Given the description of an element on the screen output the (x, y) to click on. 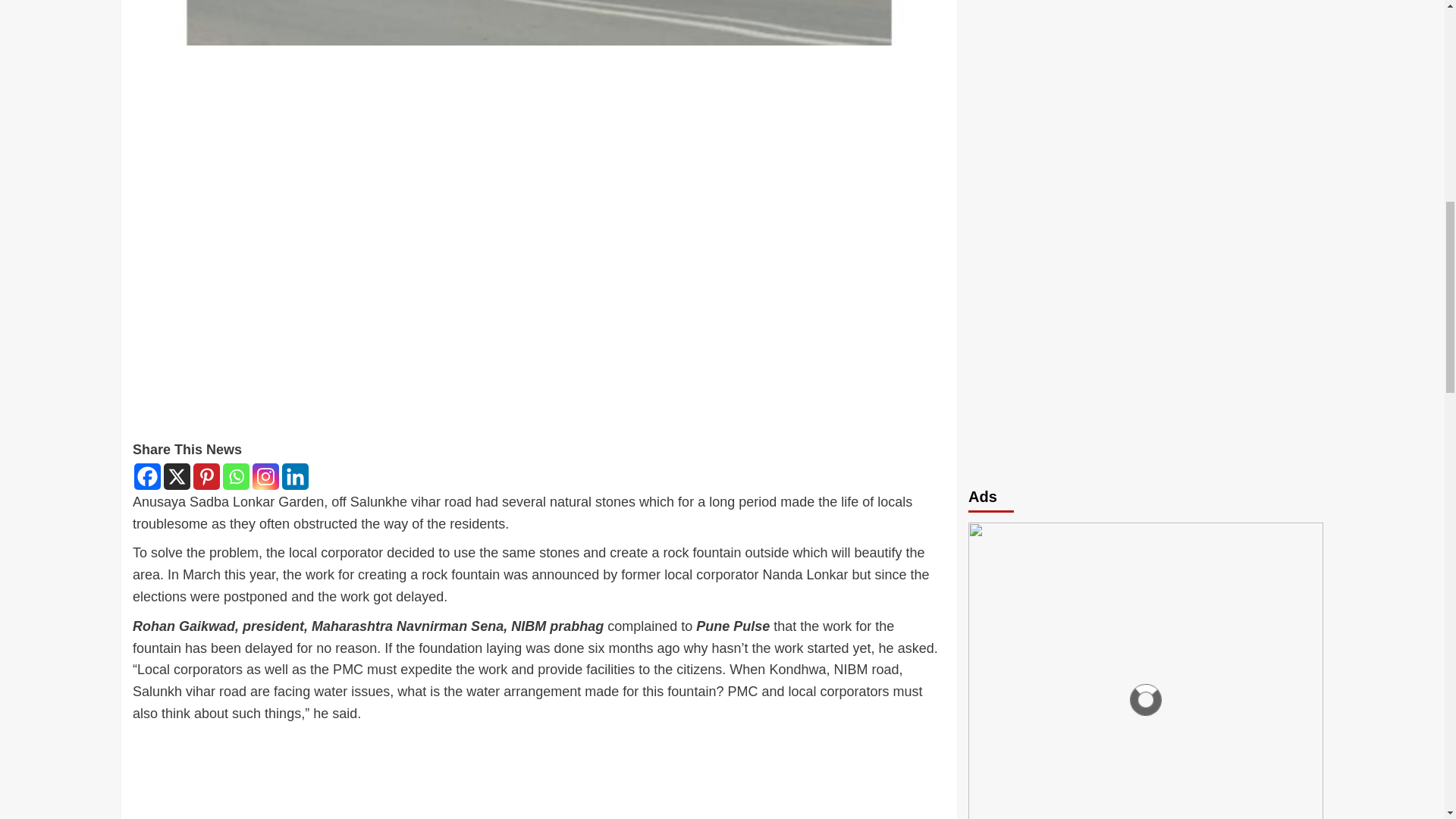
Instagram (265, 476)
Pinterest (206, 476)
Facebook (146, 476)
X (176, 476)
Whatsapp (235, 476)
Linkedin (295, 476)
